Given the description of an element on the screen output the (x, y) to click on. 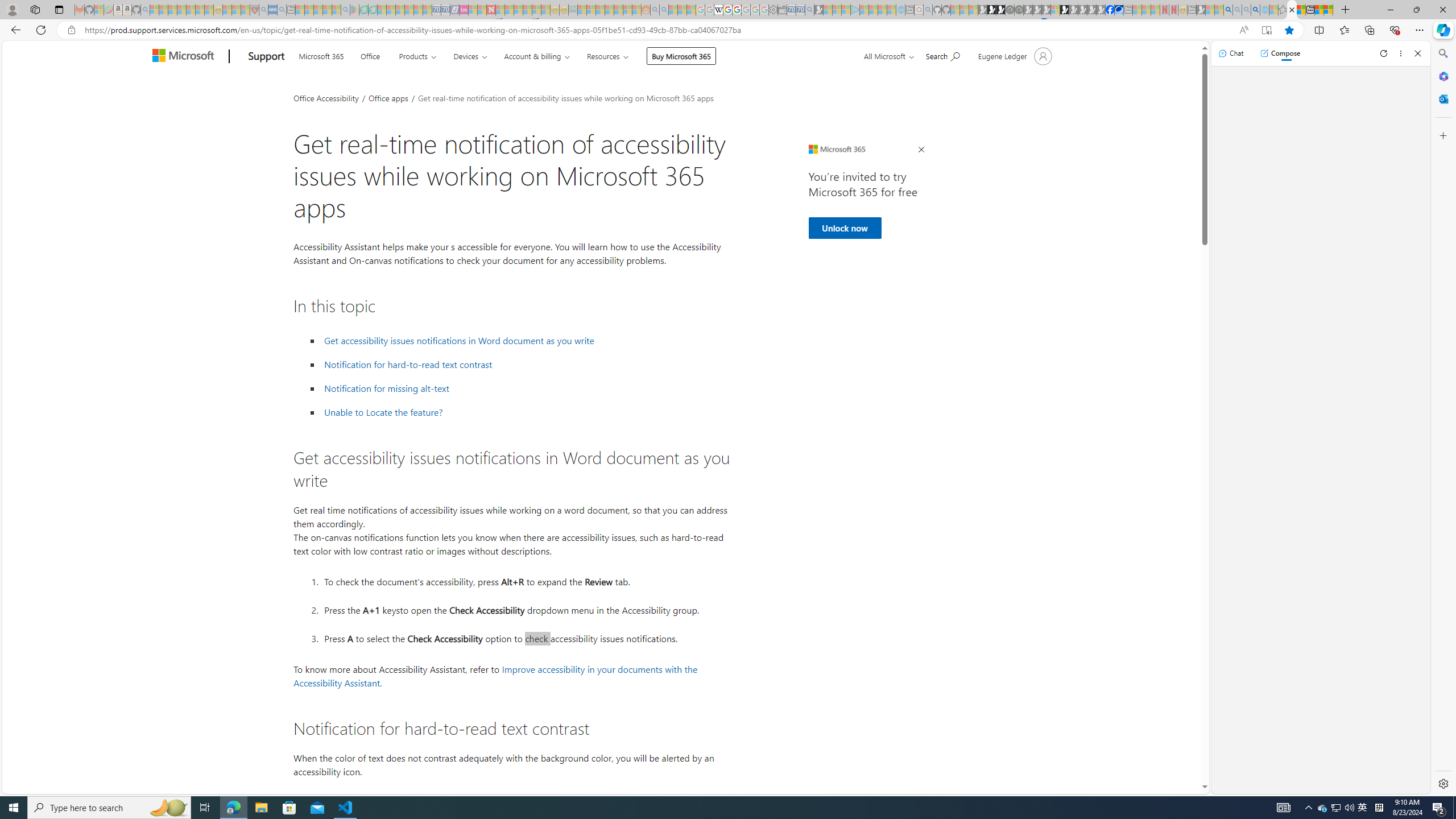
MSN - Sleeping (1200, 9)
Buy Microsoft 365 (681, 55)
 Notification for hard-to-read text contrast (408, 364)
